Given the description of an element on the screen output the (x, y) to click on. 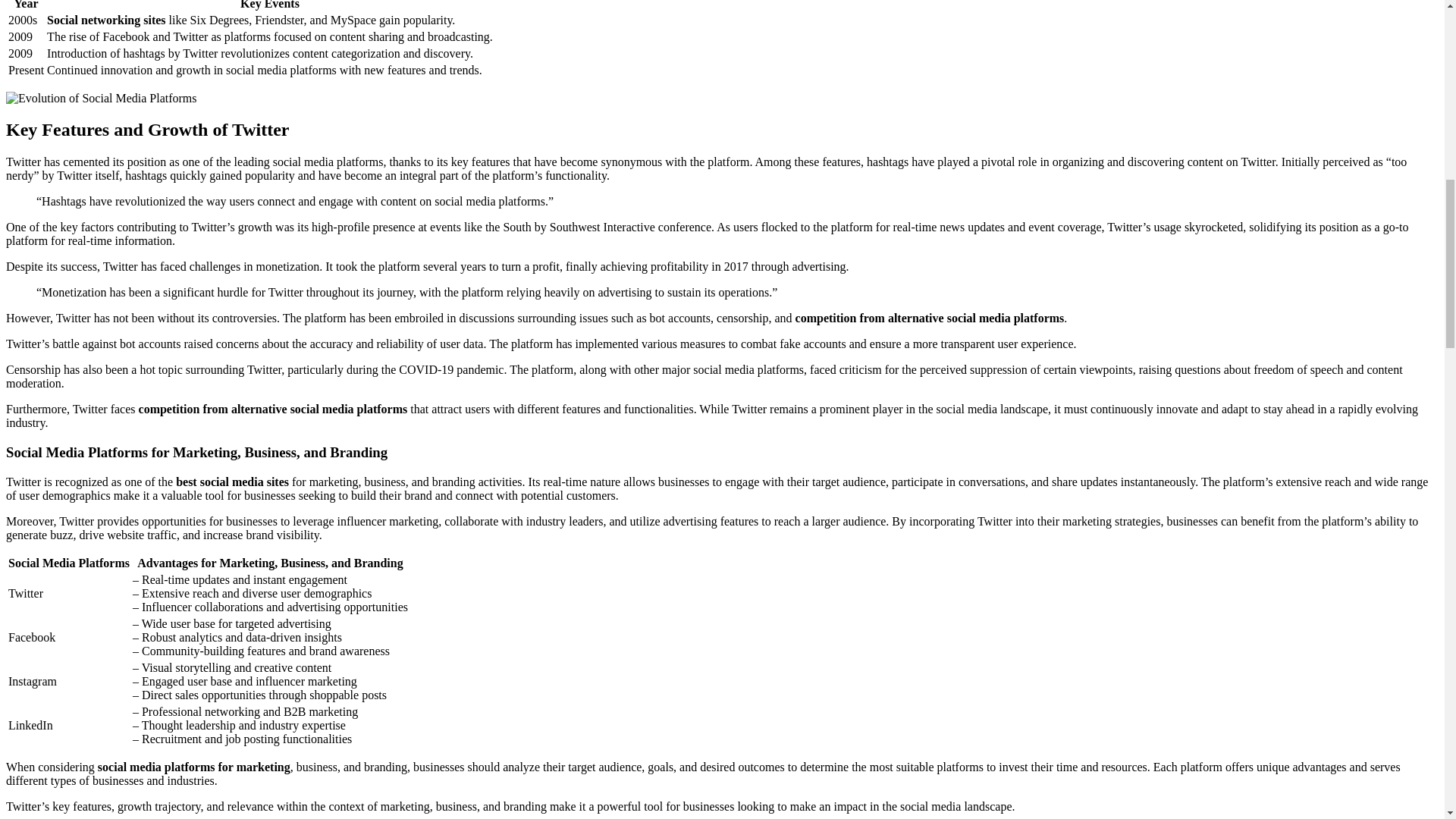
Evolution of Social Media Platforms (100, 97)
